Given the description of an element on the screen output the (x, y) to click on. 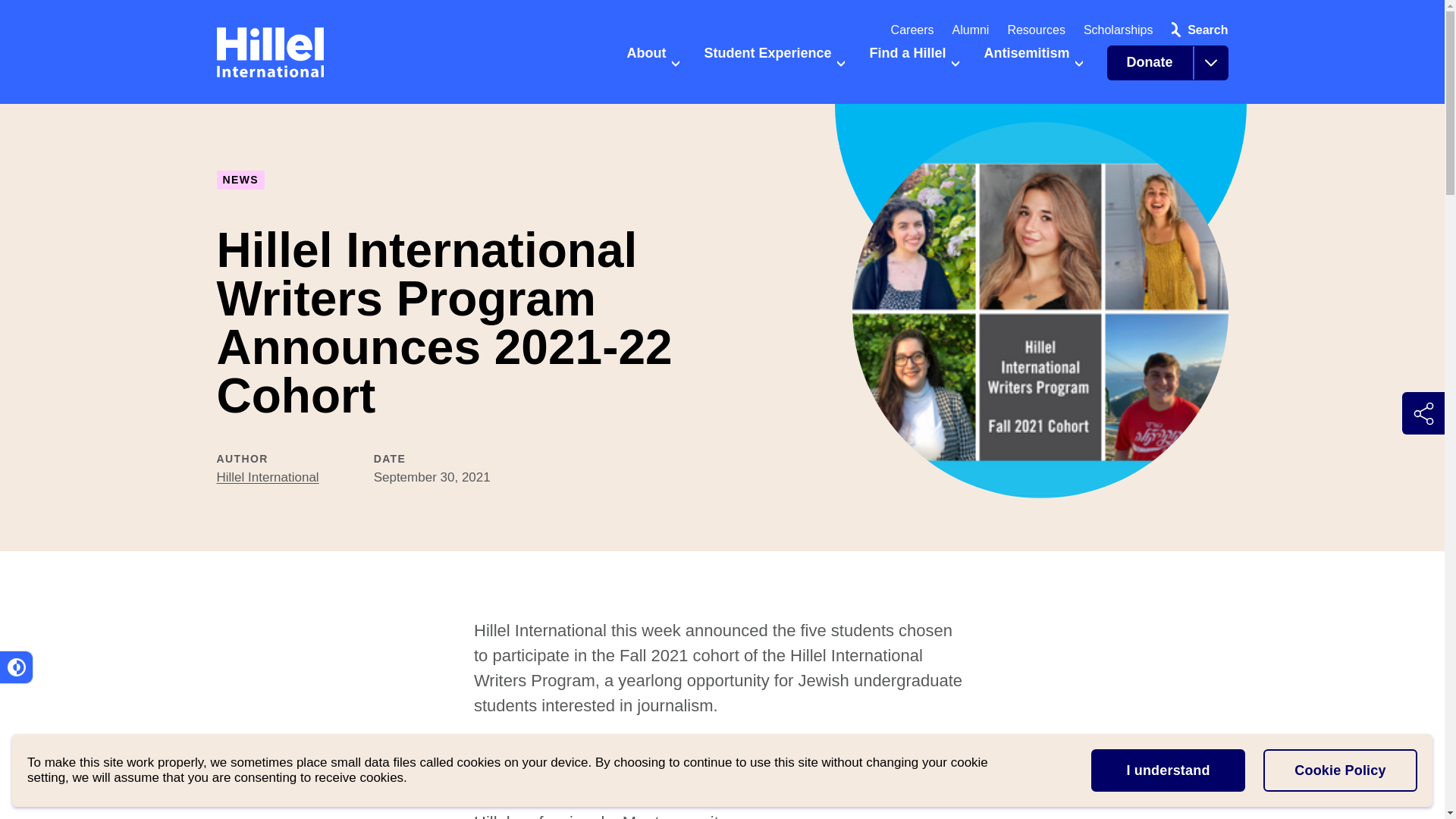
Student Experience (773, 69)
Antisemitism (1033, 69)
Cookie Policy (1339, 770)
Scholarships (1118, 29)
Careers (912, 29)
Find a Hillel (914, 69)
Resources (1035, 29)
Posts by Hillel International (267, 477)
Search (1195, 30)
About (652, 69)
Open for more actions (1209, 62)
I understand (1167, 770)
Alumni (971, 29)
